Given the description of an element on the screen output the (x, y) to click on. 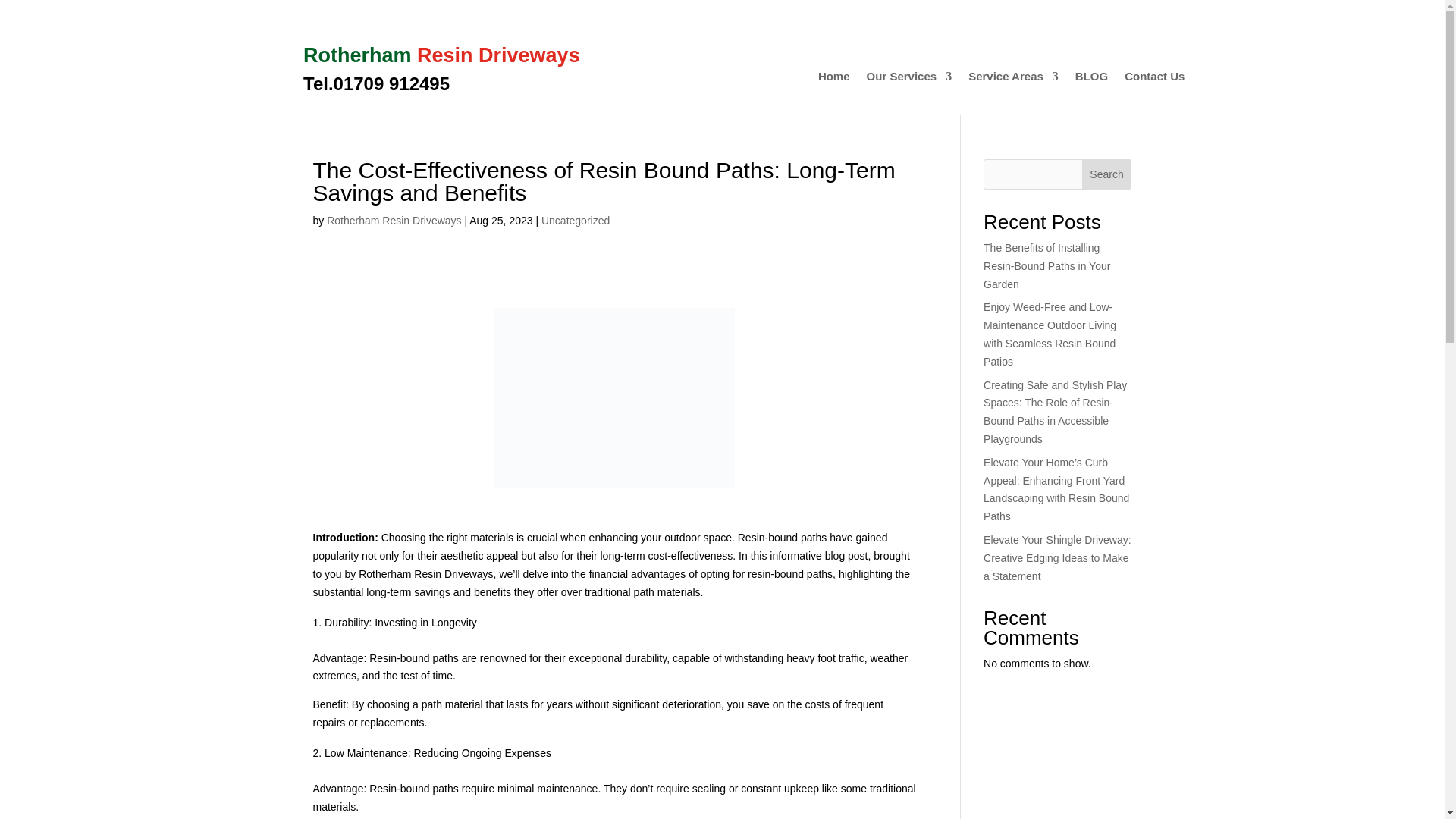
The Benefits of Installing Resin-Bound Paths in Your Garden (1046, 265)
Home (834, 79)
Service Areas (1013, 79)
Uncategorized (575, 220)
Search (1106, 173)
Contact Us (1154, 79)
BLOG (1091, 79)
Posts by Rotherham Resin Driveways (393, 220)
